Given the description of an element on the screen output the (x, y) to click on. 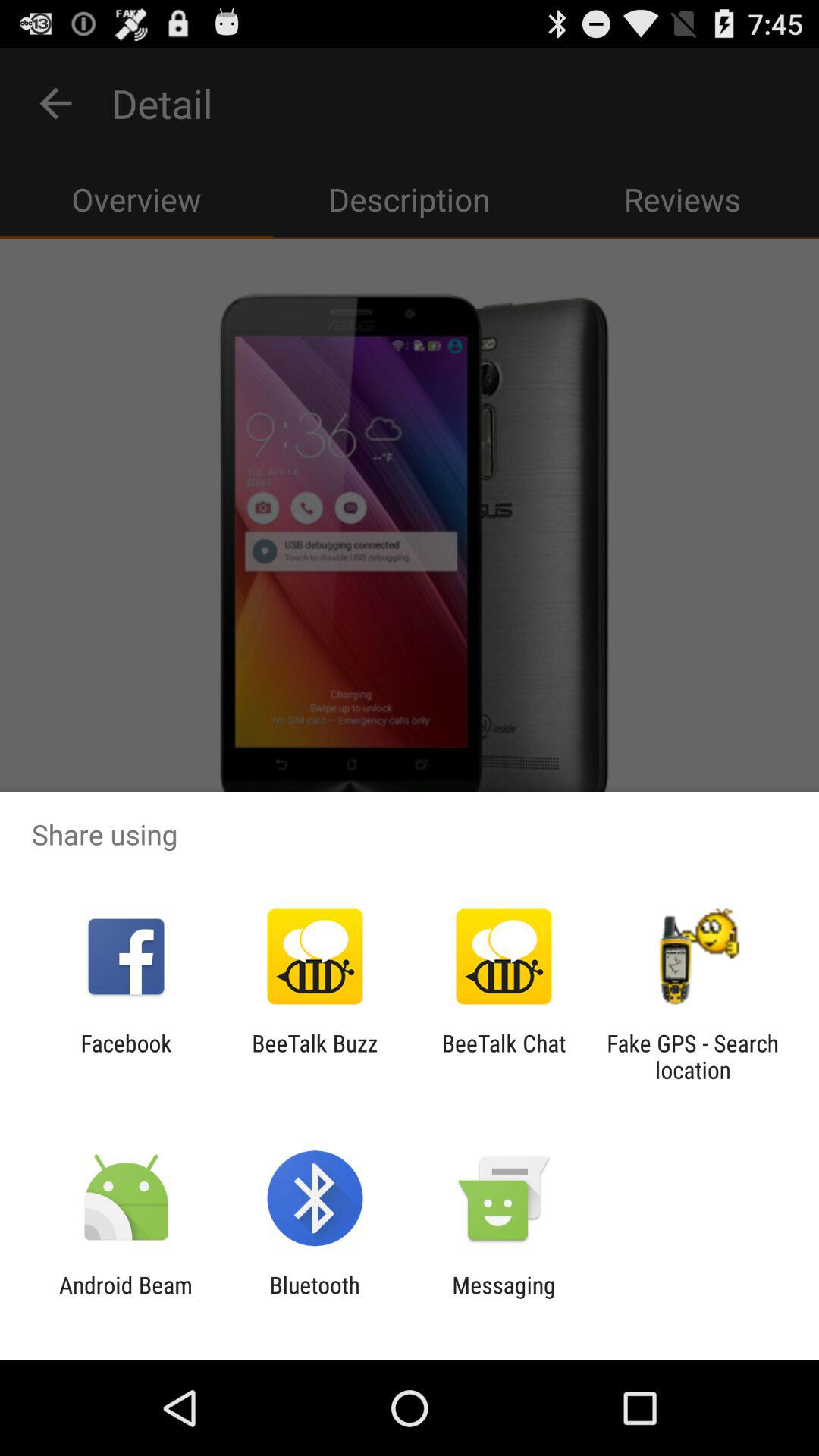
select icon next to the messaging icon (314, 1298)
